Given the description of an element on the screen output the (x, y) to click on. 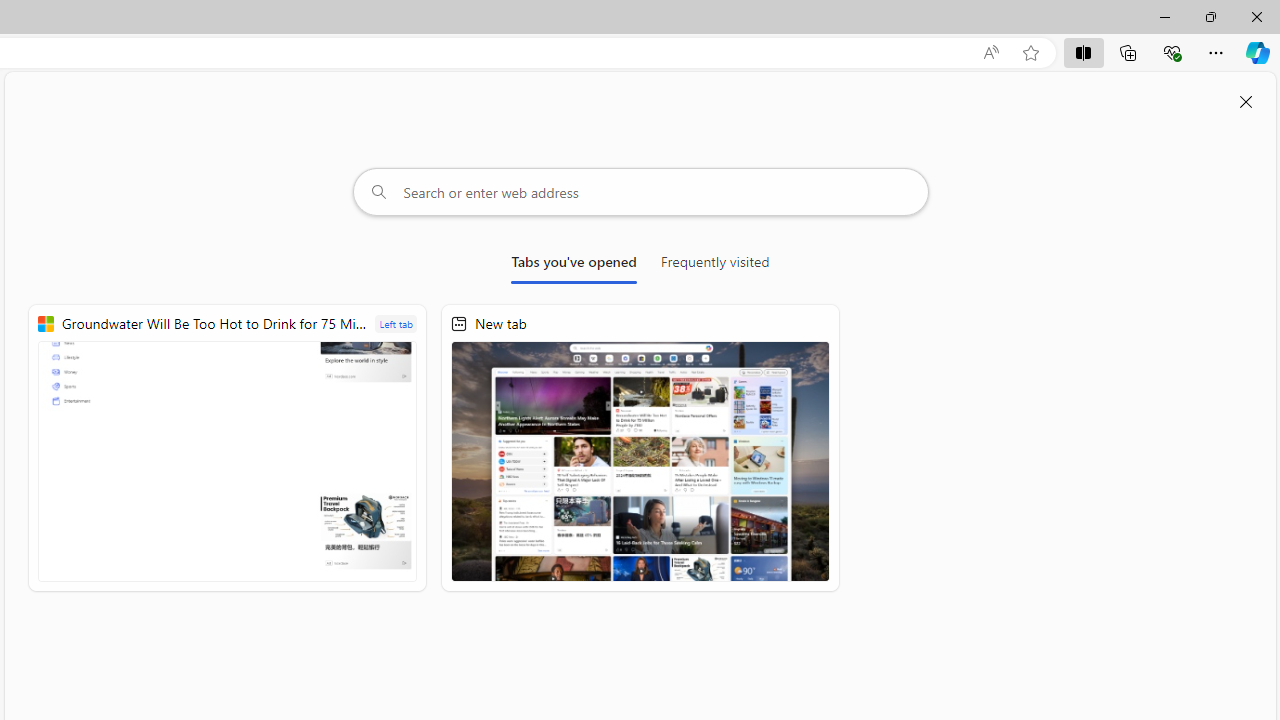
Tabs you've opened (573, 265)
Close split screen (1245, 102)
Search or enter web address (640, 191)
